Given the description of an element on the screen output the (x, y) to click on. 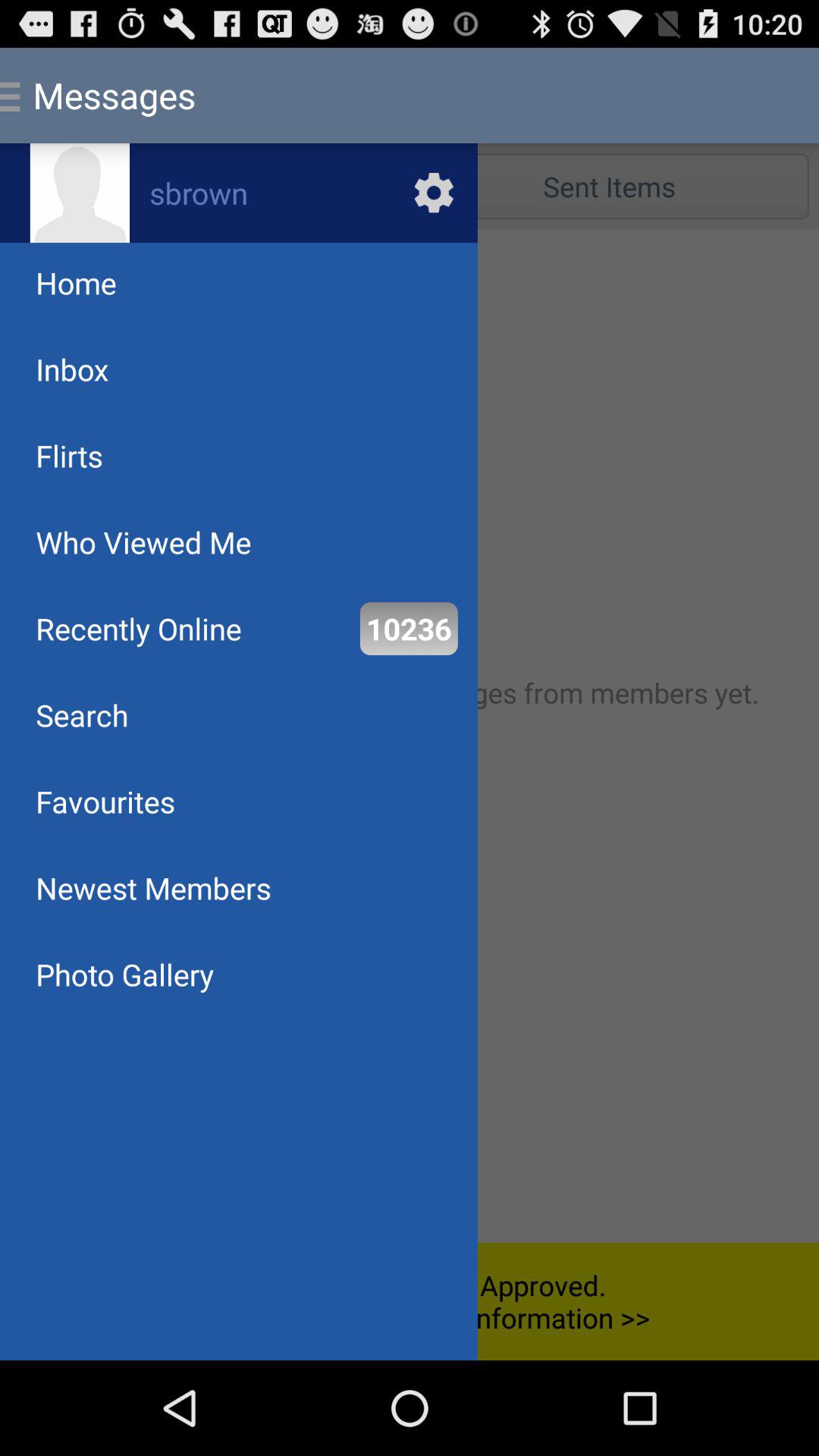
choose icon above your profile is button (124, 974)
